Given the description of an element on the screen output the (x, y) to click on. 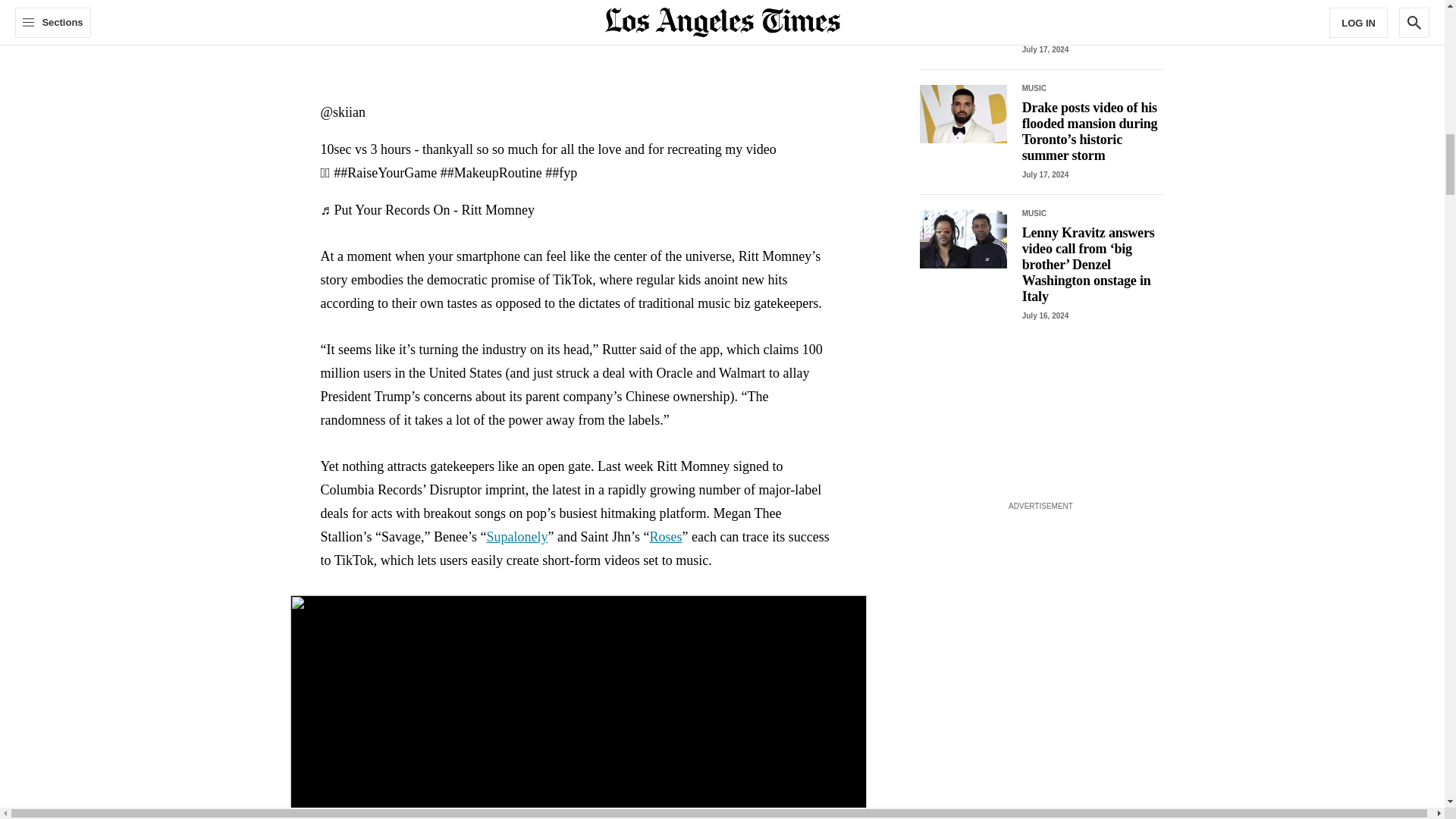
makeuproutine (491, 172)
fyp (560, 172)
raiseyourgame (384, 172)
